Given the description of an element on the screen output the (x, y) to click on. 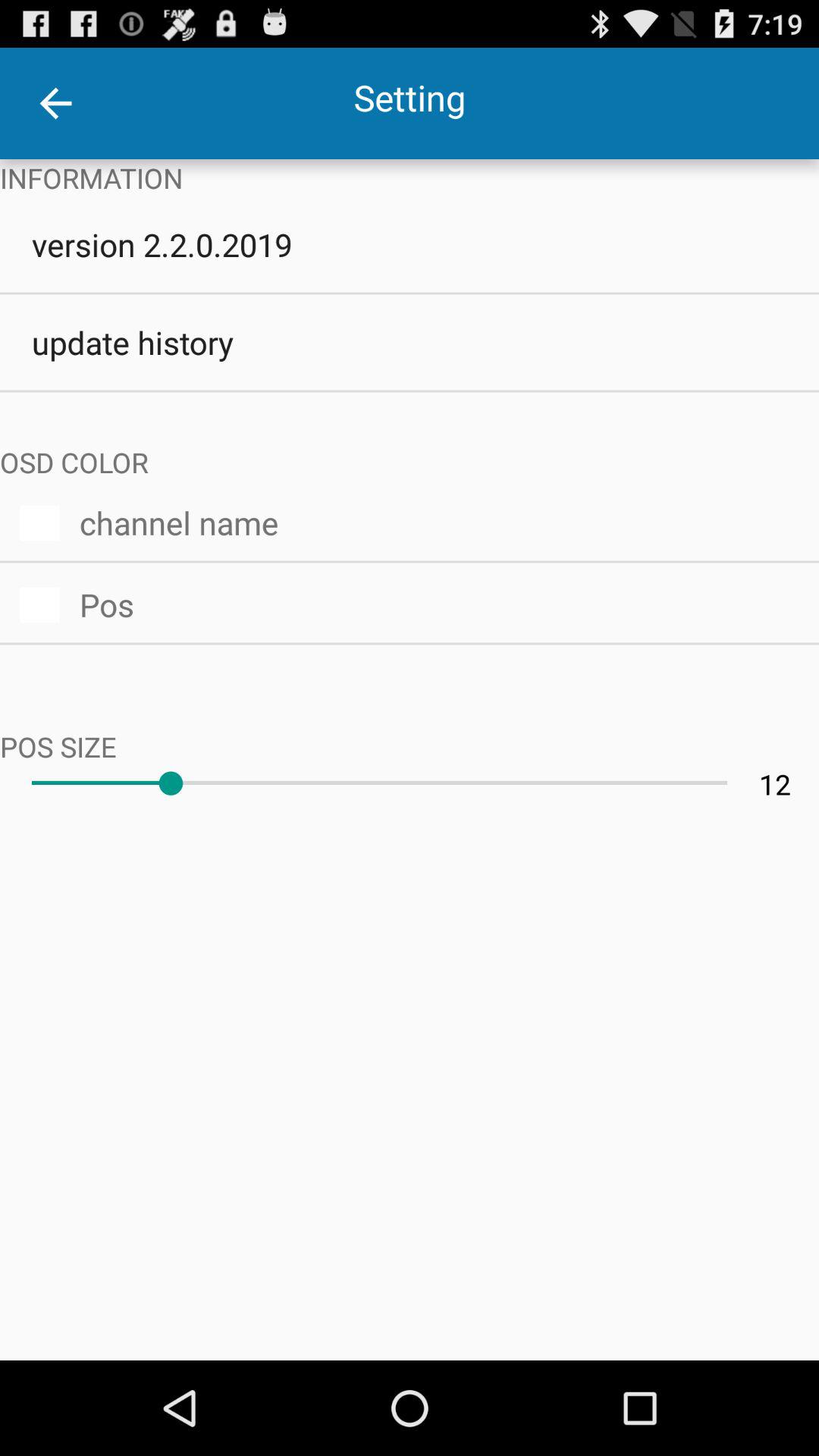
press the icon next to the setting icon (55, 103)
